Given the description of an element on the screen output the (x, y) to click on. 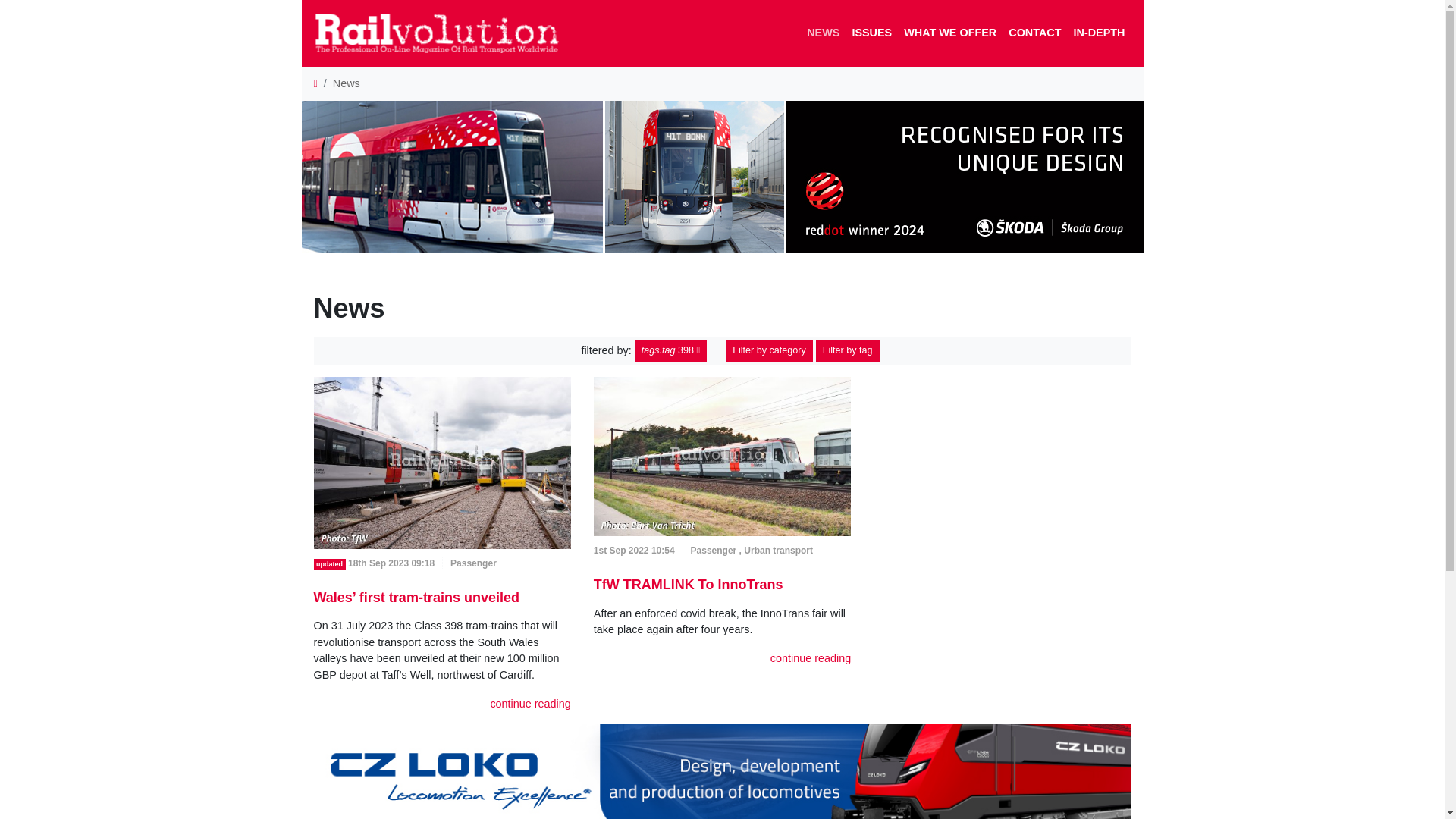
Railvolution (444, 32)
NEWS (822, 32)
IN-DEPTH (1099, 32)
ISSUES (871, 32)
tags.tag 398 (670, 350)
Filter by tag (847, 350)
Filter by category (768, 350)
WHAT WE OFFER (950, 32)
CONTACT (1035, 32)
CZ LOKO (722, 771)
